Given the description of an element on the screen output the (x, y) to click on. 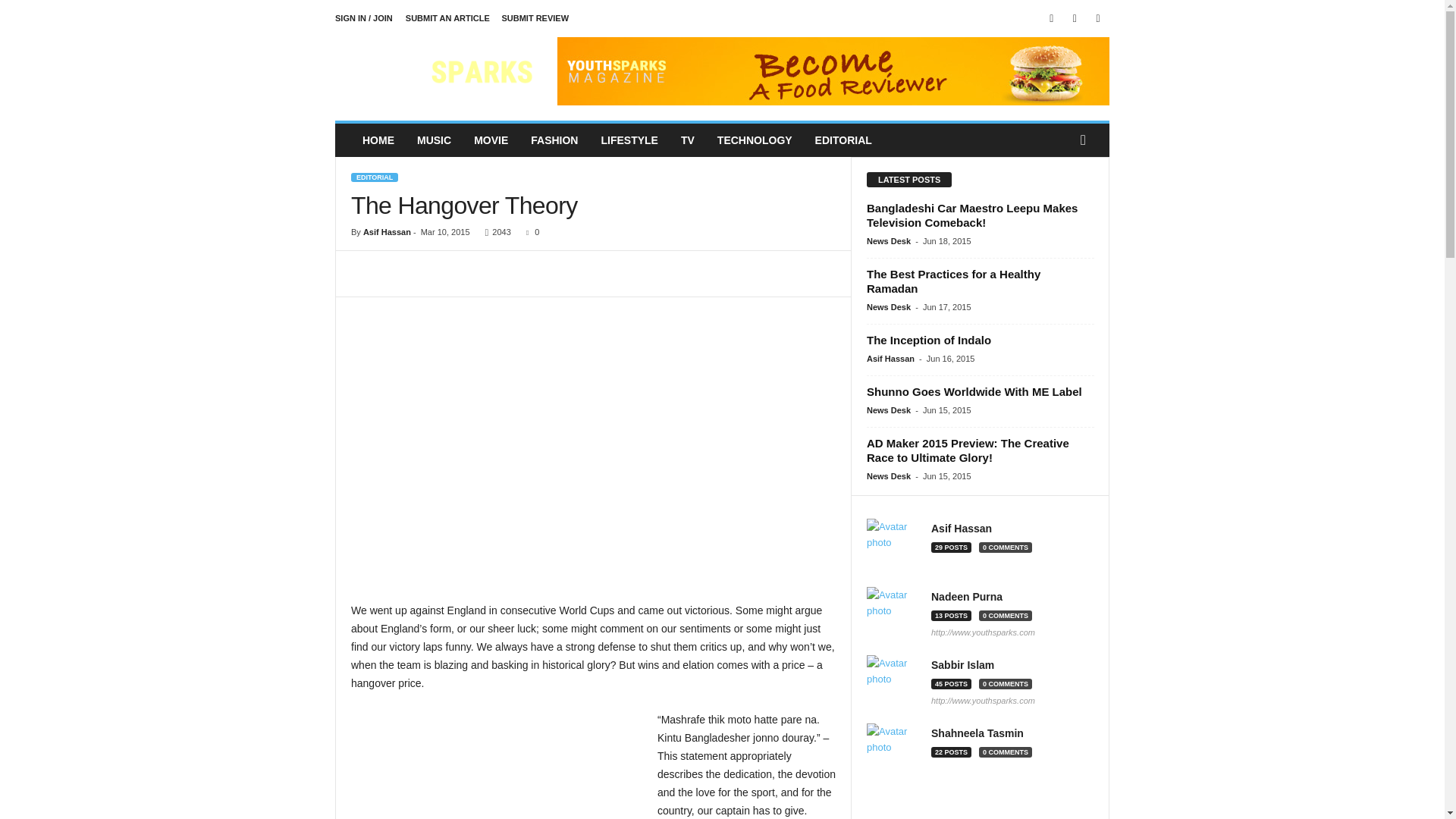
YOUTHSPARKS MAGAZINE (437, 71)
SUBMIT AN ARTICLE (447, 17)
SUBMIT REVIEW (534, 17)
